Given the description of an element on the screen output the (x, y) to click on. 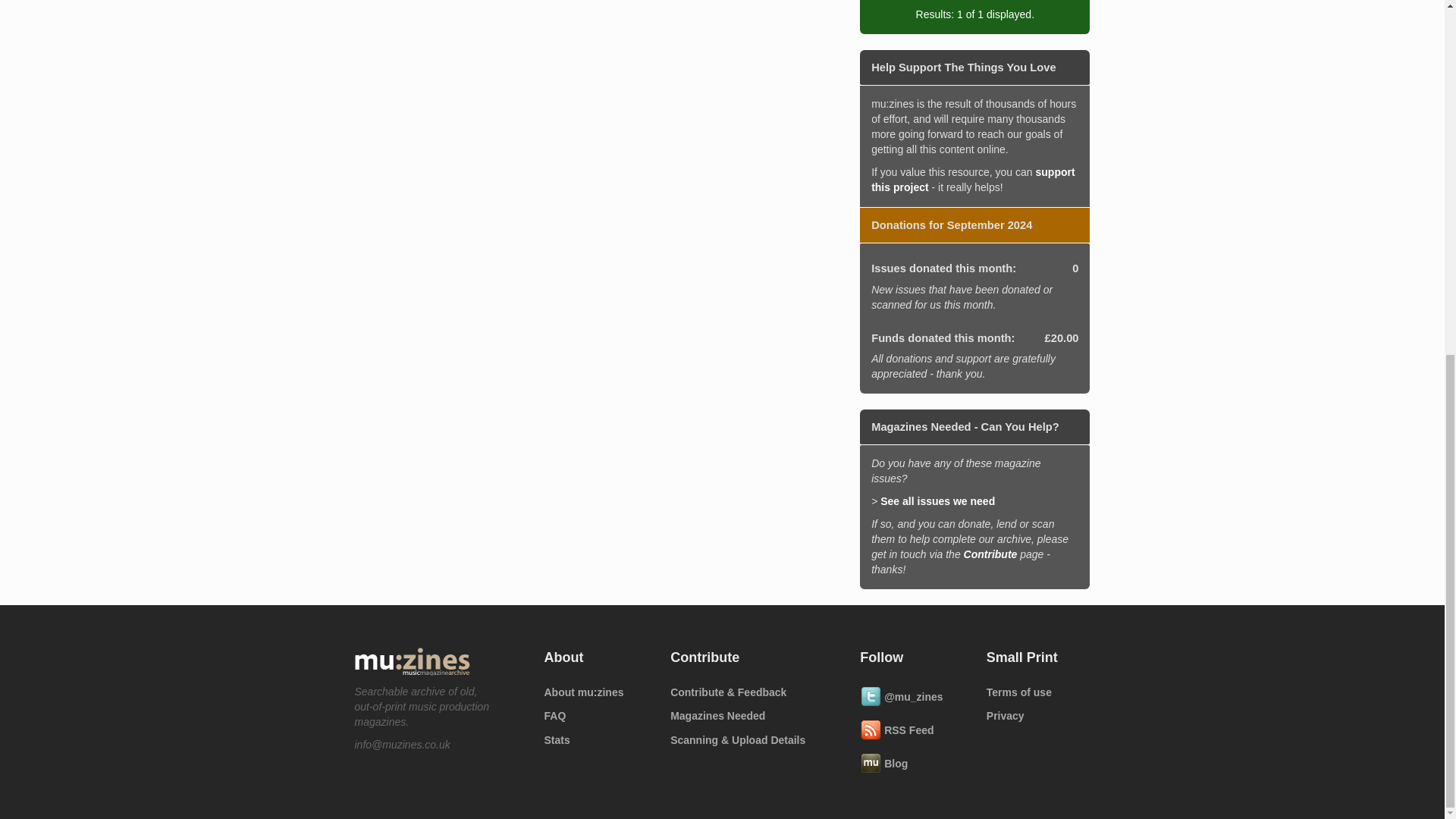
Terms of use (1038, 692)
Stats (595, 740)
Contribute (990, 553)
support this project (972, 179)
FAQ (595, 716)
About mu:zines (595, 692)
RSS Feed (911, 729)
Privacy (1038, 716)
See all issues we need (937, 500)
Blog (911, 763)
